Given the description of an element on the screen output the (x, y) to click on. 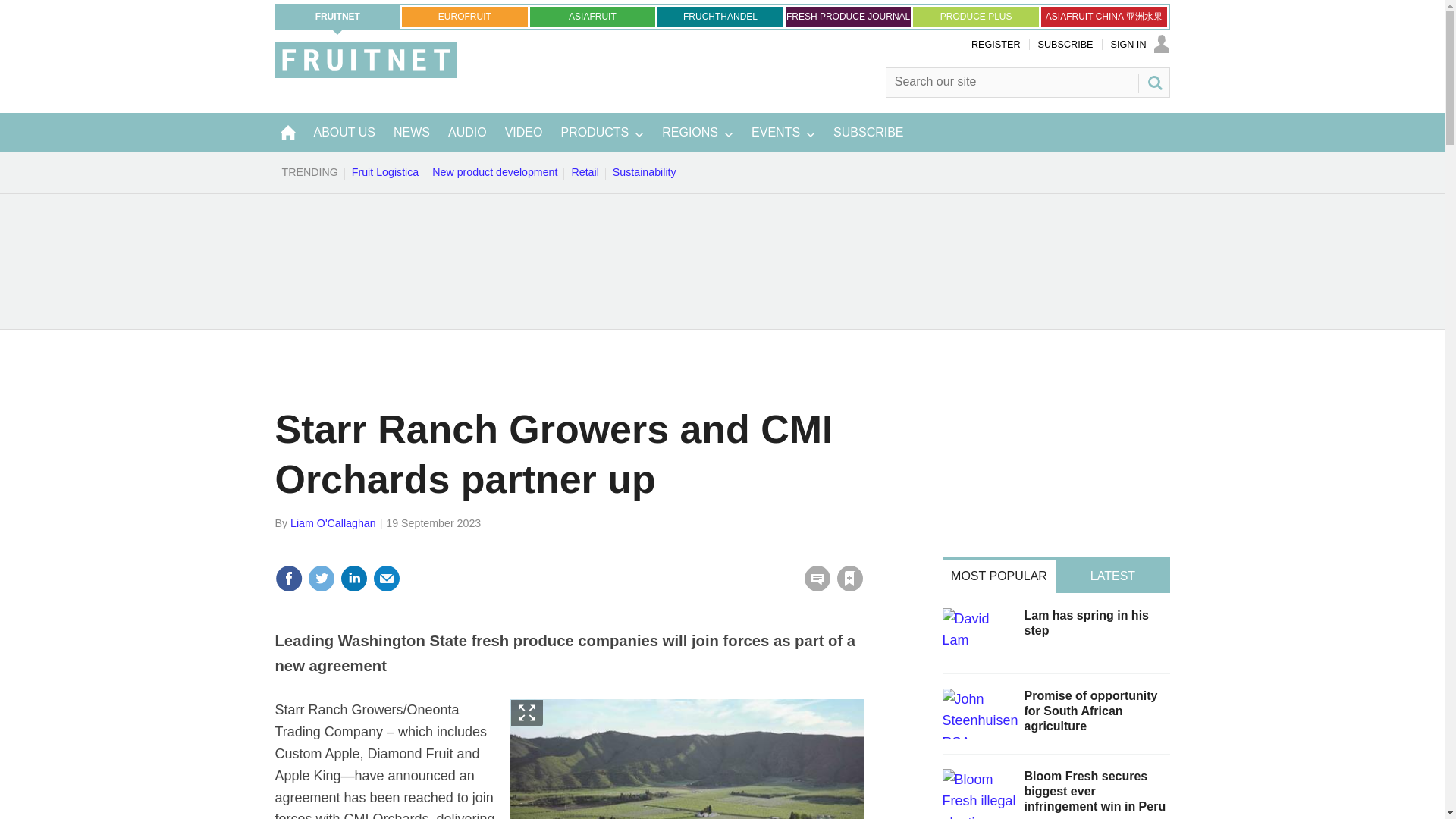
FRESH PRODUCE JOURNAL (848, 16)
PRODUCE PLUS (975, 16)
EUROFRUIT (464, 16)
Sustainability (643, 172)
No comments (812, 587)
Share this on Twitter (320, 578)
SEARCH (1153, 82)
New product development (494, 172)
SUBSCRIBE (1065, 44)
Retail (584, 172)
